Given the description of an element on the screen output the (x, y) to click on. 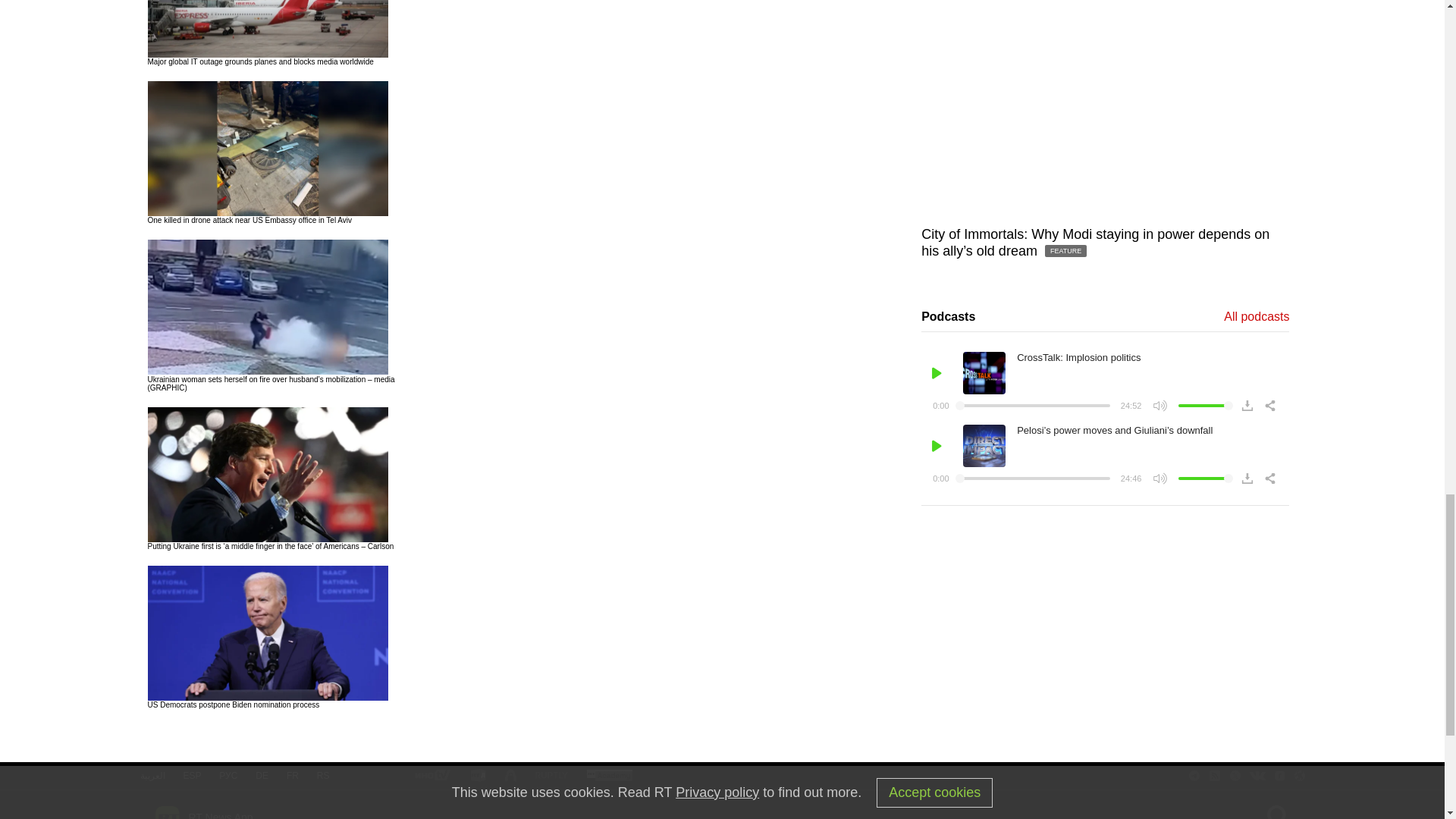
RT  (551, 776)
RT  (478, 775)
RT  (431, 775)
RT  (608, 775)
